Given the description of an element on the screen output the (x, y) to click on. 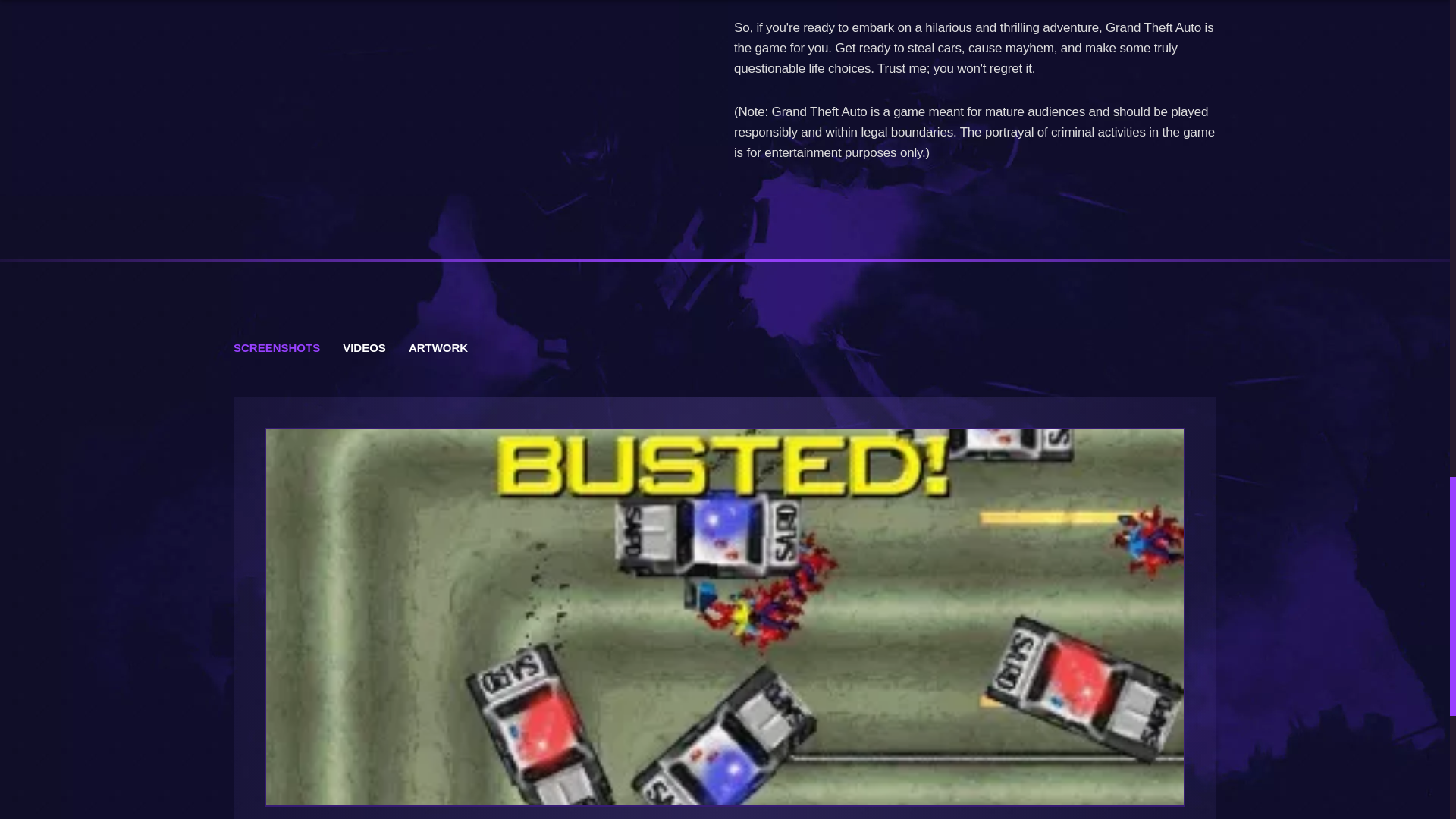
SCREENSHOTS (276, 351)
VIDEOS (363, 351)
ARTWORK (438, 351)
